Given the description of an element on the screen output the (x, y) to click on. 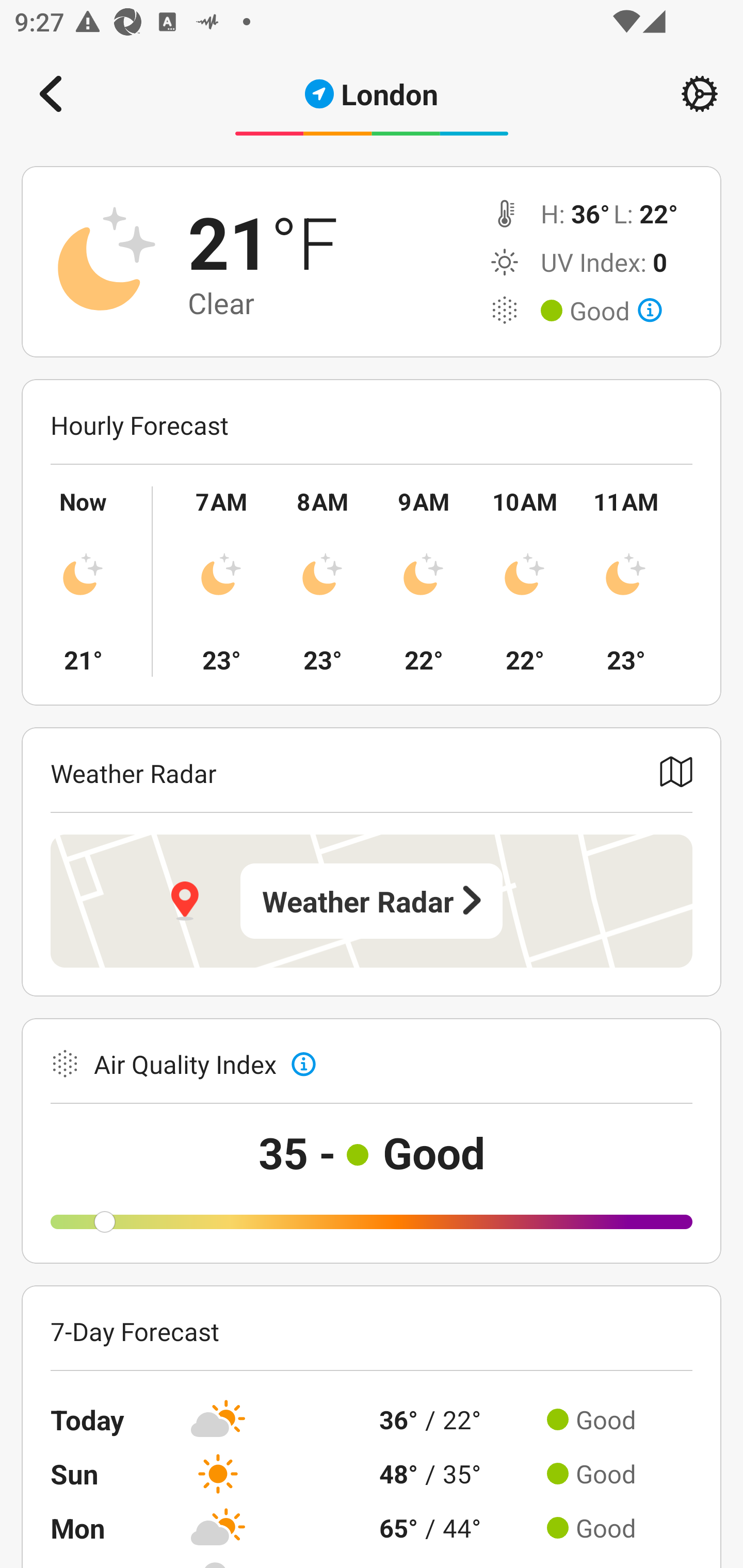
Navigate up (50, 93)
Setting (699, 93)
Good (615, 310)
Weather Radar (371, 900)
